Given the description of an element on the screen output the (x, y) to click on. 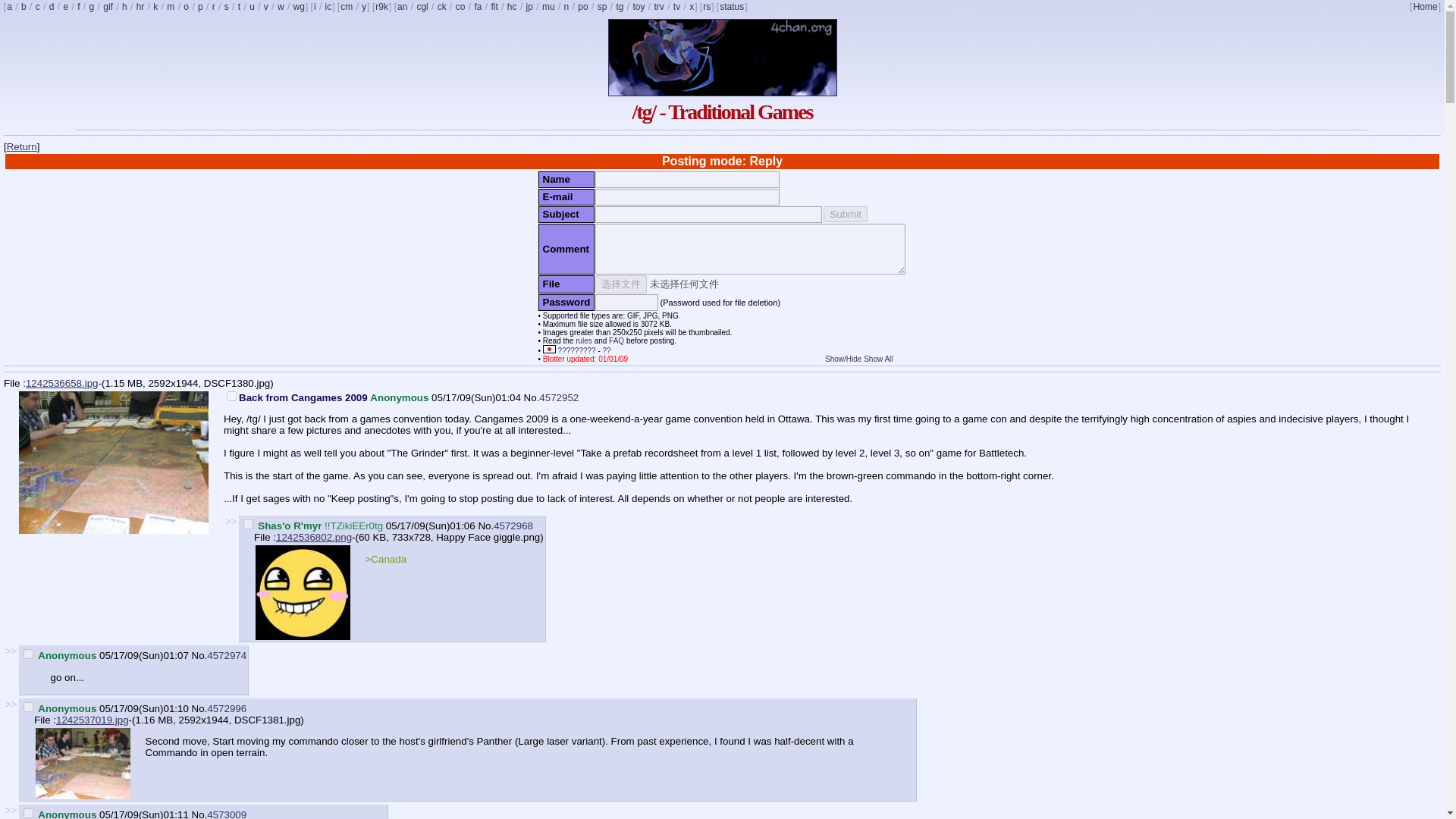
toy (638, 6)
delete (28, 813)
r9k (381, 6)
delete (248, 524)
mu (548, 6)
wg (298, 6)
hc (512, 6)
Submit (845, 213)
delete (28, 654)
po (582, 6)
cm (346, 6)
delete (231, 396)
sp (602, 6)
gif (107, 6)
co (459, 6)
